Given the description of an element on the screen output the (x, y) to click on. 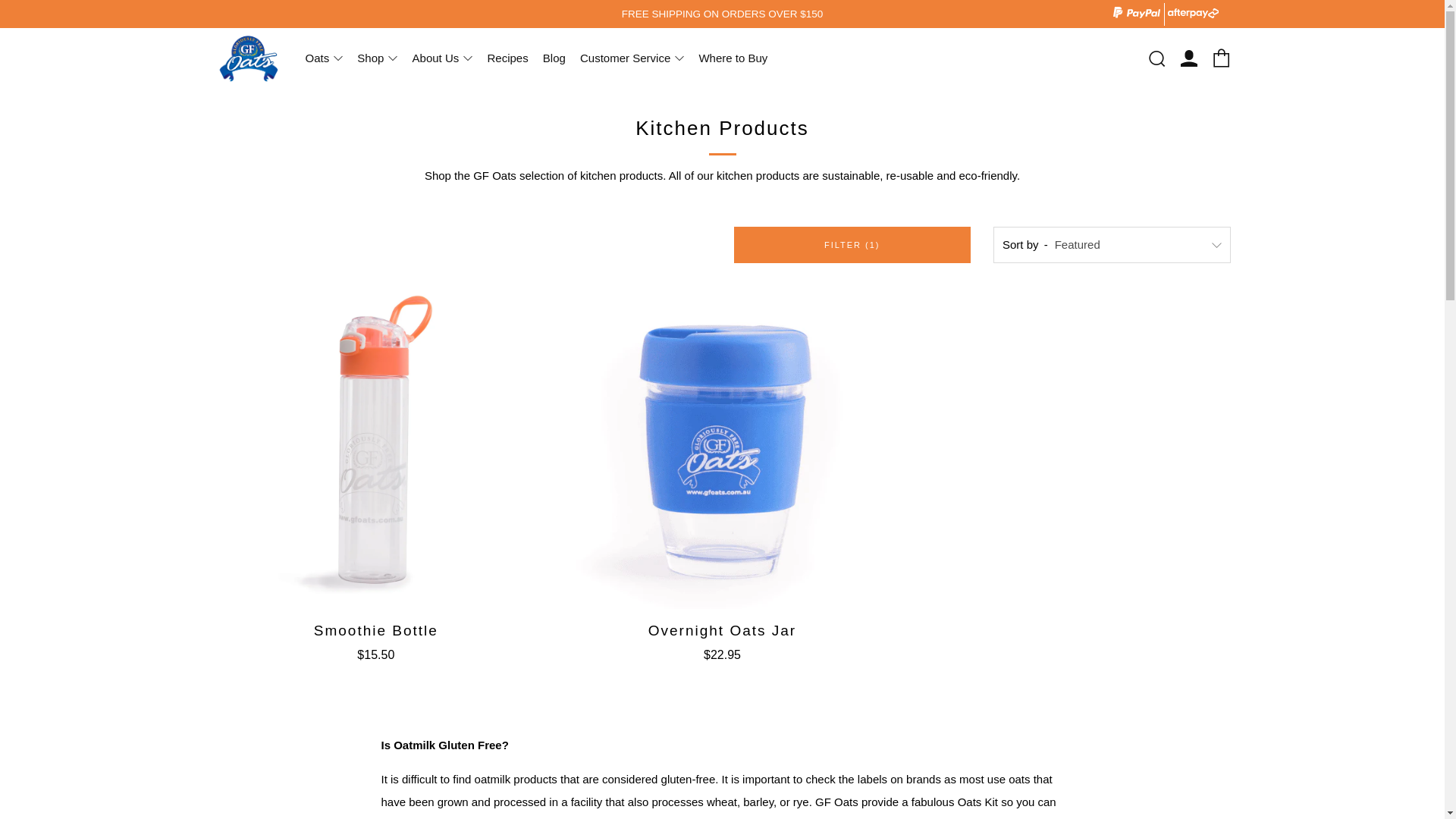
Overnight Oats Jar (721, 447)
Log in (1187, 57)
Smoothie Bottle (375, 447)
Search (1155, 57)
Smoothie Bottle (375, 639)
Cart (1220, 57)
Overnight Oats Jar (721, 639)
